Given the description of an element on the screen output the (x, y) to click on. 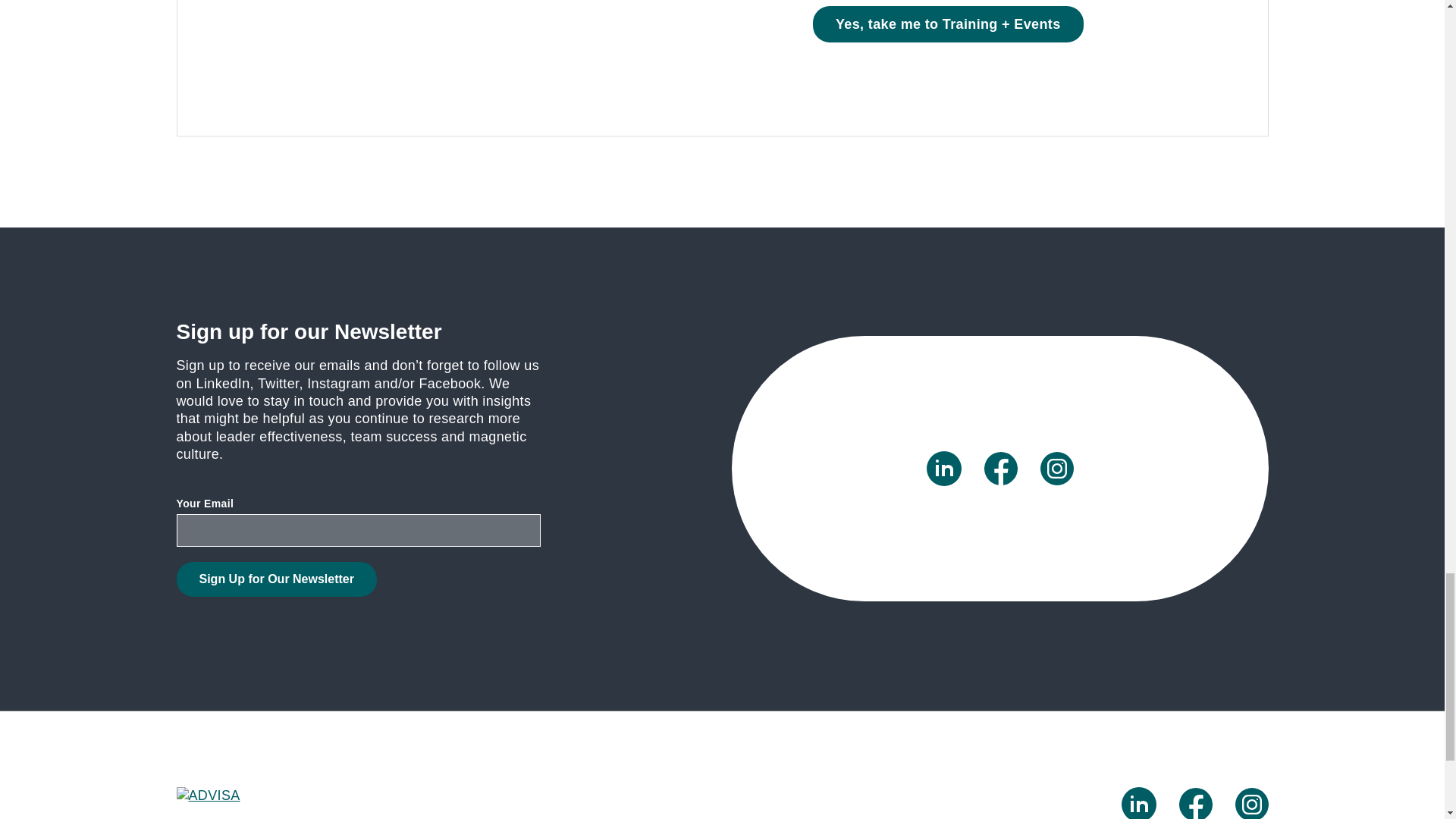
Sign Up for Our Newsletter (275, 579)
Sign Up for Our Newsletter (275, 579)
LinkedIn (943, 468)
